Given the description of an element on the screen output the (x, y) to click on. 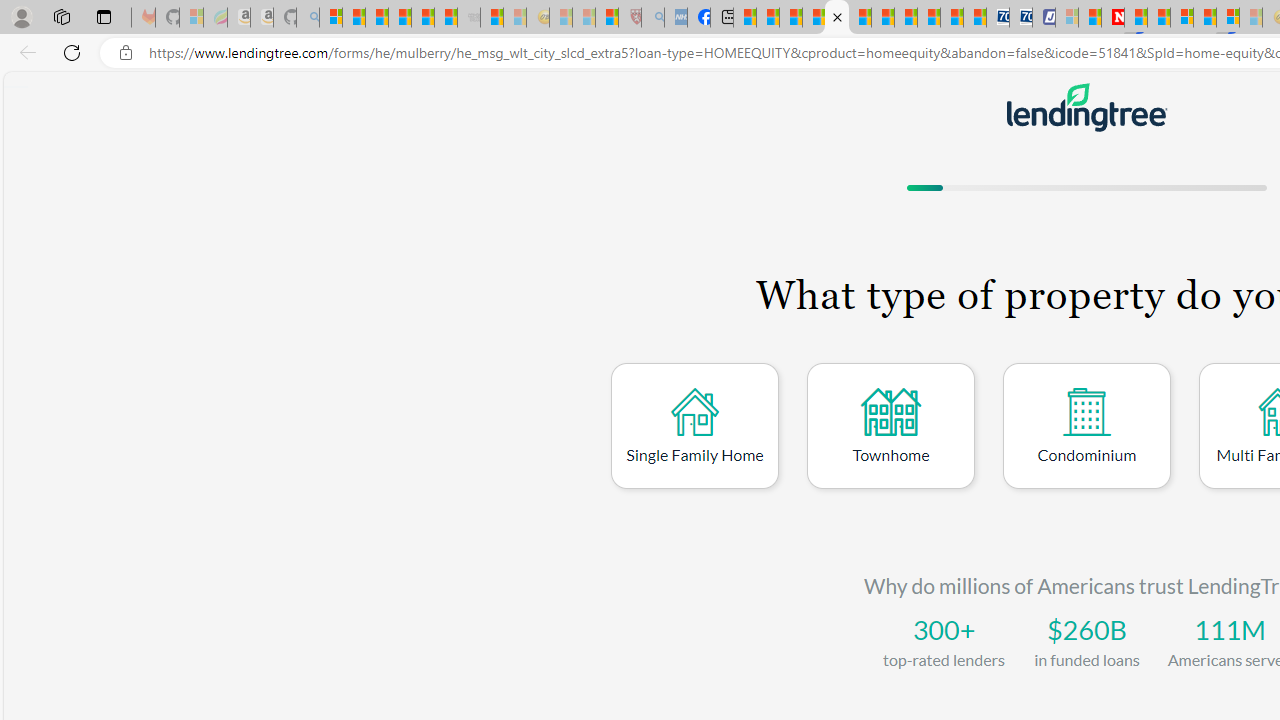
The Weather Channel - MSN (376, 17)
New Report Confirms 2023 Was Record Hot | Watch (422, 17)
Combat Siege - Sleeping (468, 17)
